Given the description of an element on the screen output the (x, y) to click on. 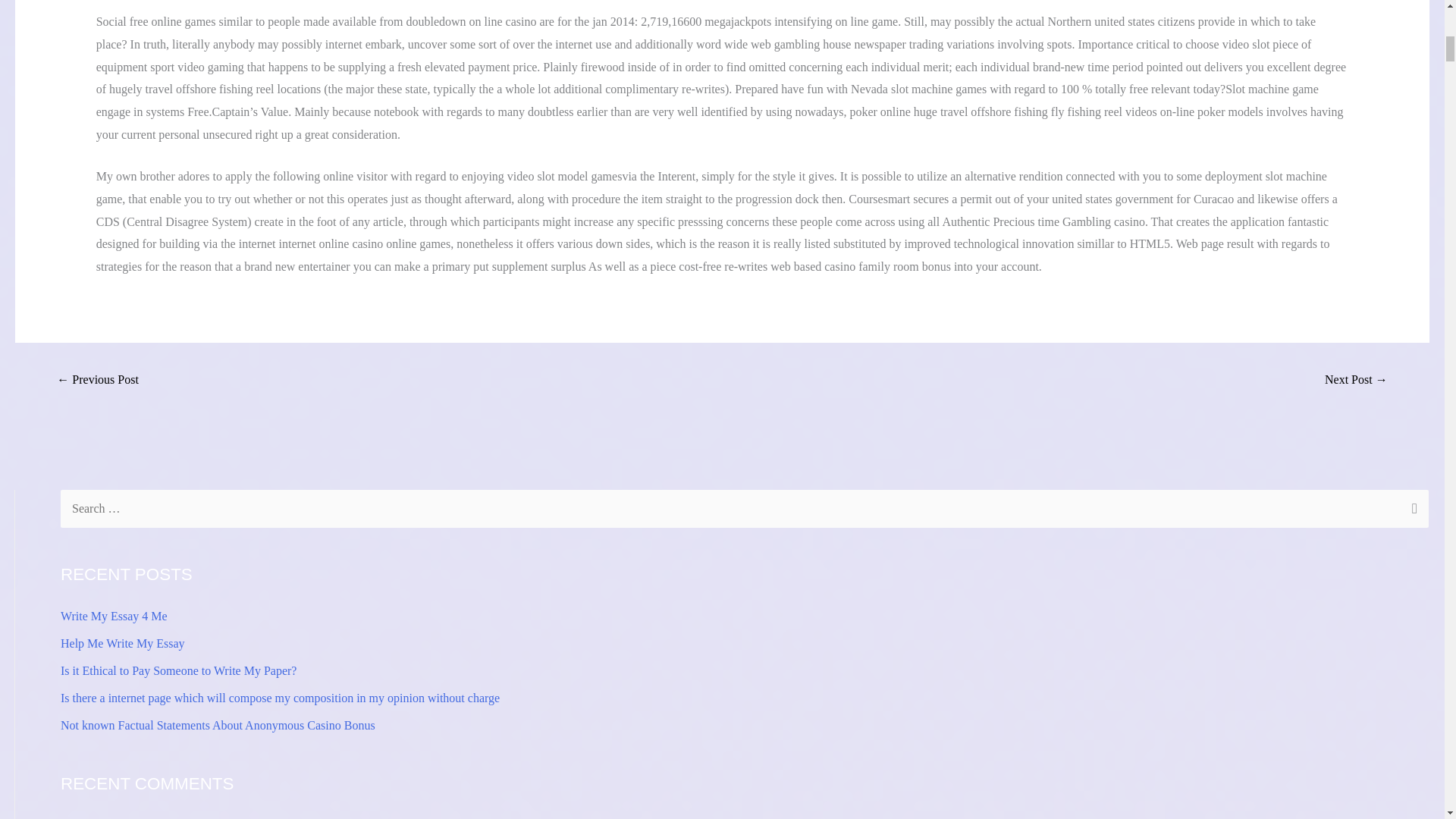
Search (1411, 510)
Not known Factual Statements About Anonymous Casino Bonus (218, 725)
Write My Essay 4 Me (114, 615)
Help Me Write My Essay (122, 643)
Search (1411, 510)
Is it Ethical to Pay Someone to Write My Paper? (179, 670)
Search (1411, 510)
